Given the description of an element on the screen output the (x, y) to click on. 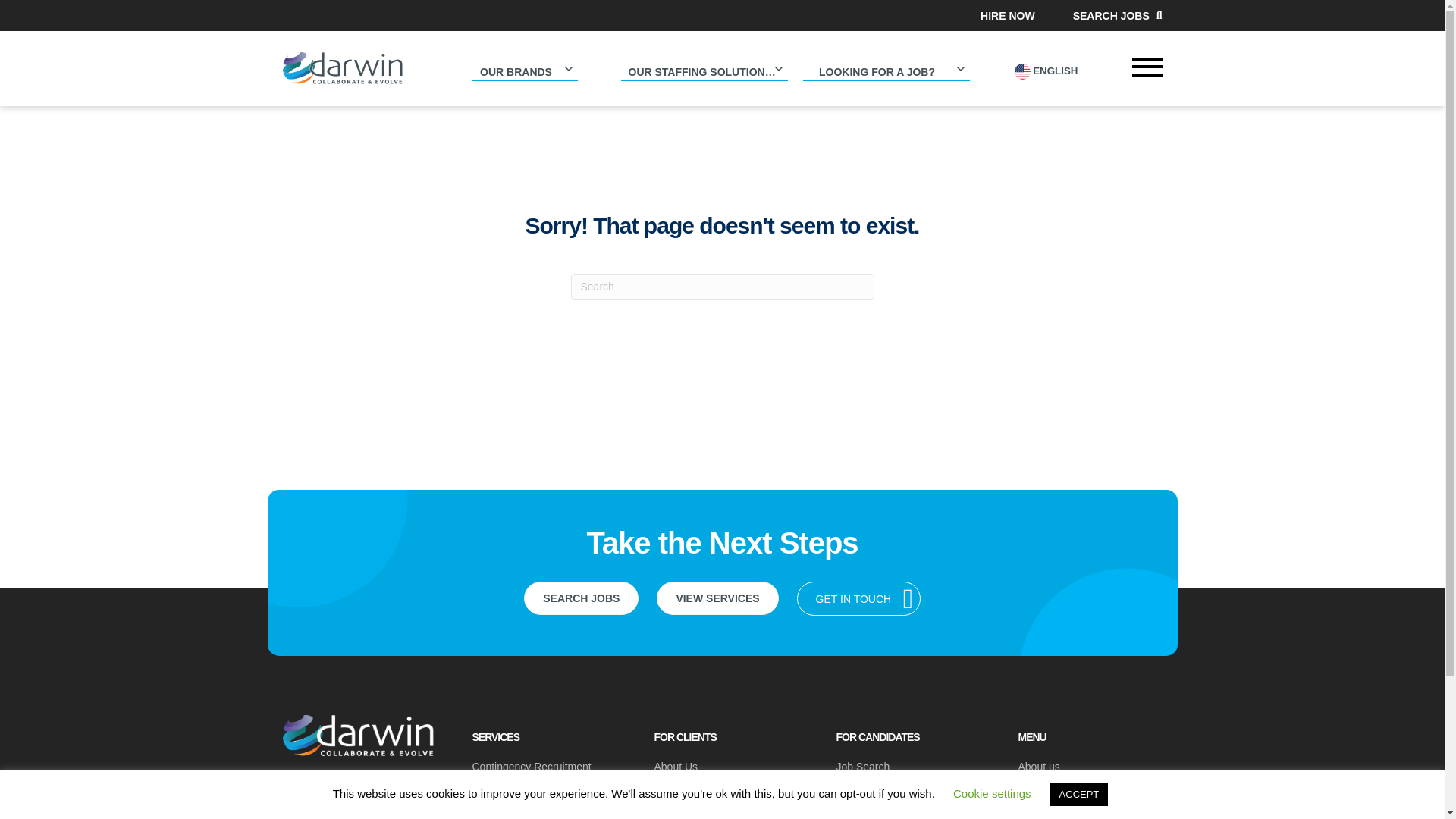
Main Darwin Logo HORIZONTAL 2024 (342, 69)
OUR STAFFING SOLUTIONS (703, 68)
LOOKING FOR A JOB? (885, 68)
Main Darwin Logo HORIZONTAL WHITE FONT 2024 (357, 735)
Type and press Enter to search. (721, 286)
HIRE NOW (1007, 15)
OUR BRANDS (524, 68)
SEARCH JOBS (1117, 15)
